Given the description of an element on the screen output the (x, y) to click on. 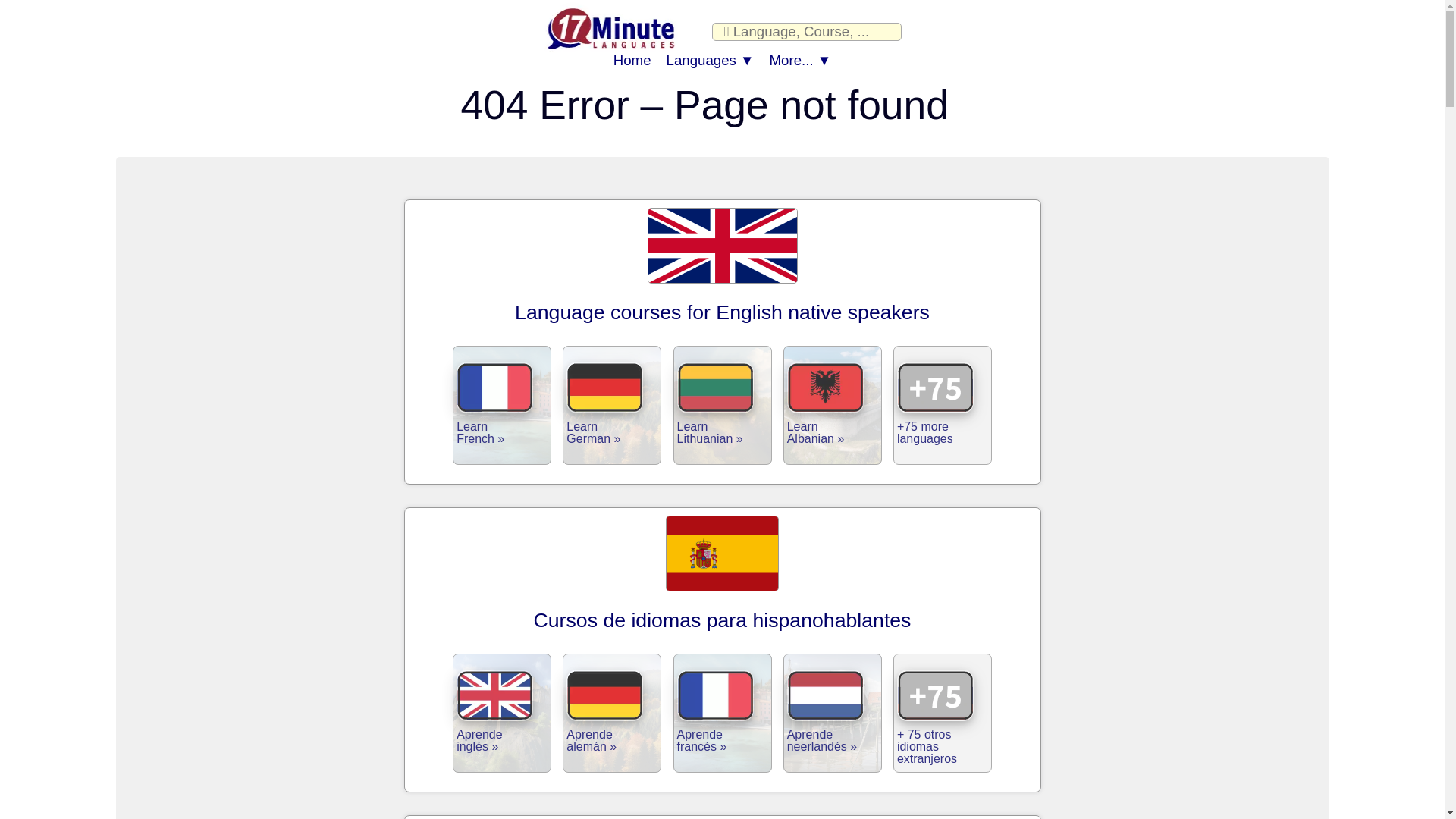
Language courses for English native speakers Element type: text (721, 312)
More... Element type: text (800, 60)
+75 more languages Element type: text (944, 403)
Languages Element type: text (710, 60)
Home Element type: text (631, 60)
Cursos de idiomas para hispanohablantes Element type: text (722, 619)
+ 75 otros idiomas extranjeros Element type: text (944, 711)
